Given the description of an element on the screen output the (x, y) to click on. 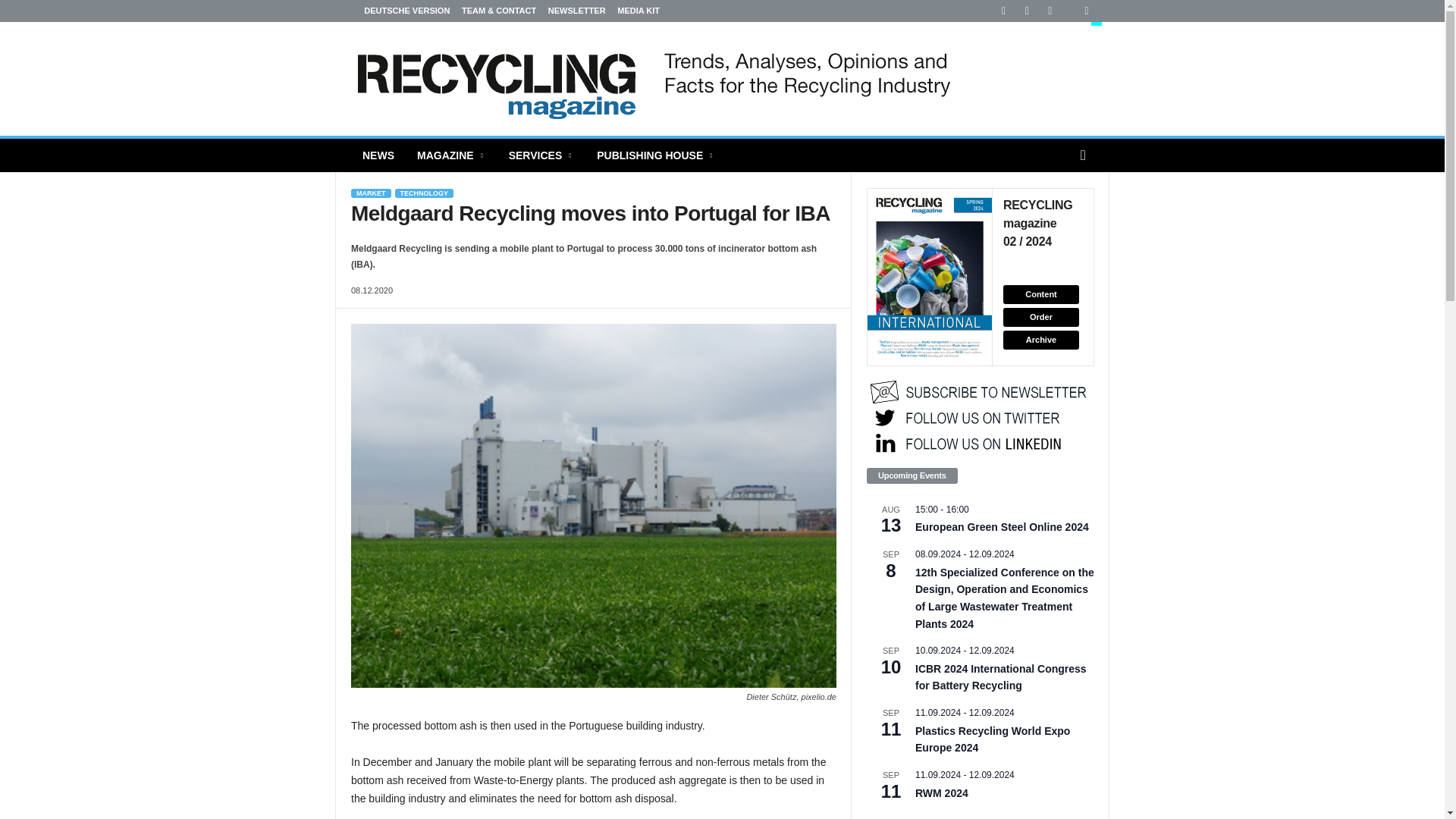
NEWSLETTER (576, 10)
Linkedin (997, 11)
DEUTSCHE VERSION (391, 10)
Twitter (1080, 11)
MEDIA KIT (638, 10)
